Given the description of an element on the screen output the (x, y) to click on. 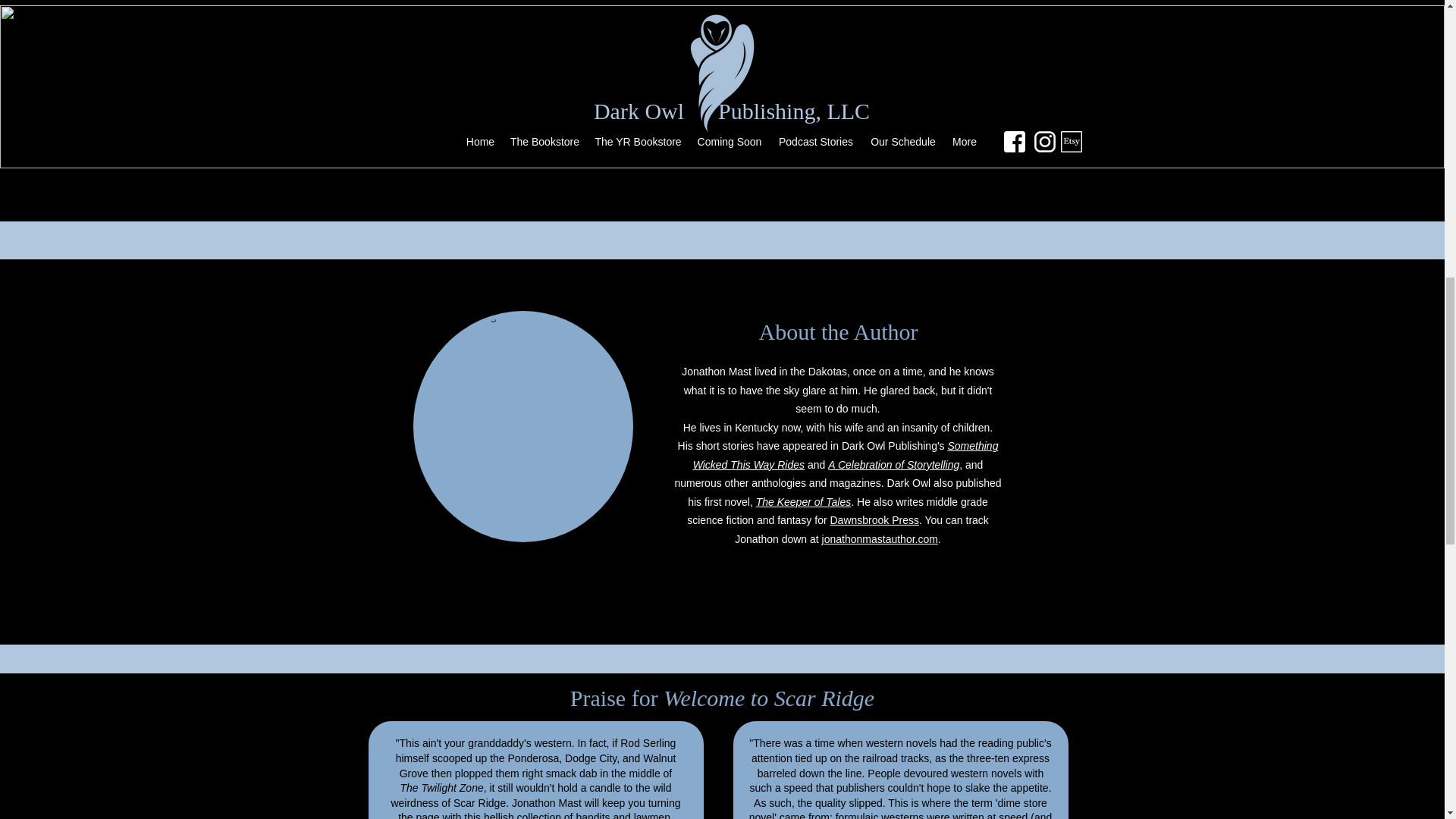
Something Wicked This Way Rides (845, 454)
jonathonmastauthor.com (879, 539)
A Celebration of Storytelling (893, 464)
Dawnsbrook Press (873, 520)
The Keeper of Tales (803, 501)
